Given the description of an element on the screen output the (x, y) to click on. 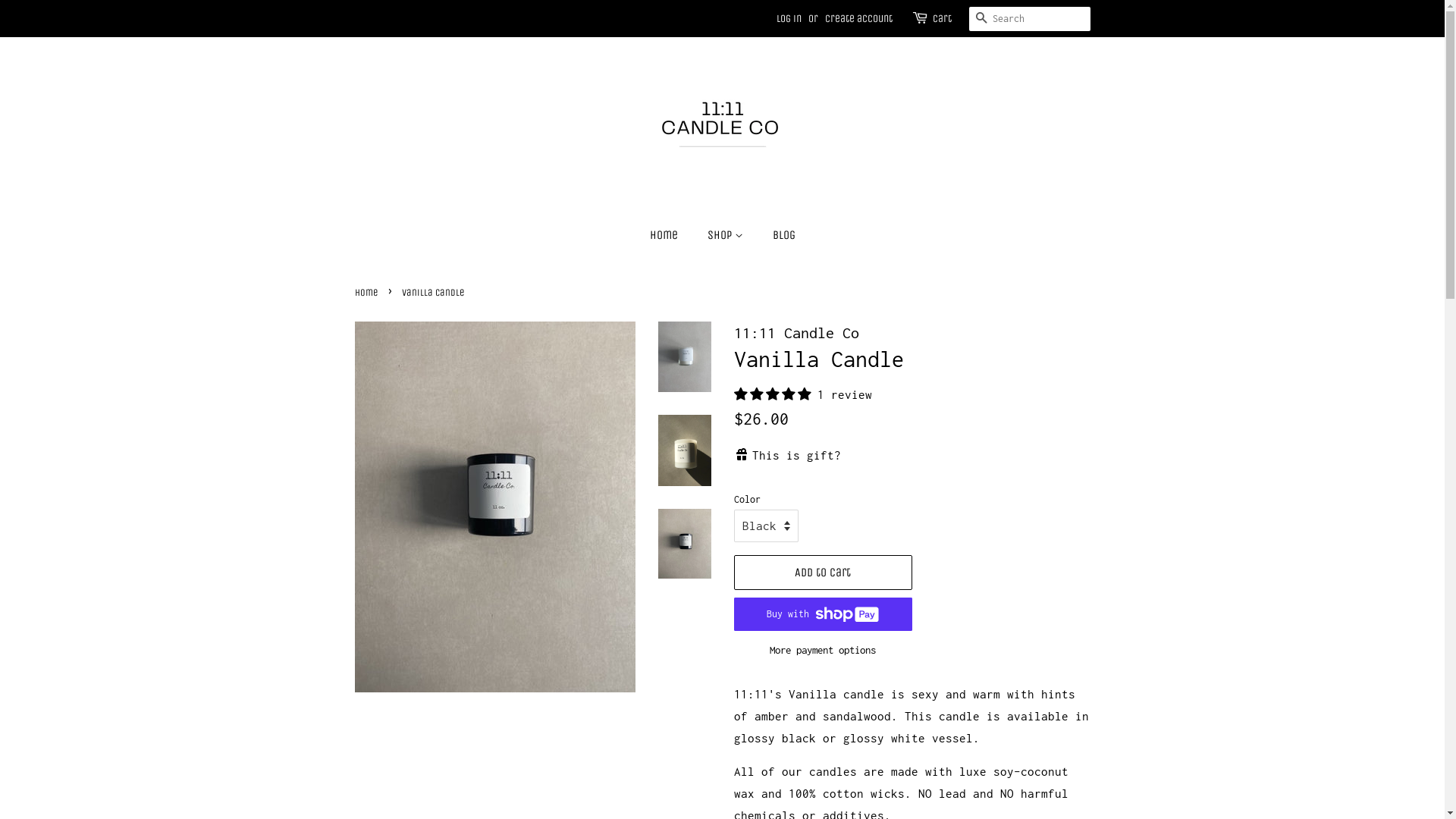
Shop Element type: text (727, 234)
Search Element type: text (981, 18)
Add to Cart Element type: text (823, 572)
Cart Element type: text (941, 18)
Blog Element type: text (778, 234)
More payment options Element type: text (823, 649)
Home Element type: text (368, 292)
Log in Element type: text (788, 18)
Home Element type: text (670, 234)
Create account Element type: text (858, 18)
